Given the description of an element on the screen output the (x, y) to click on. 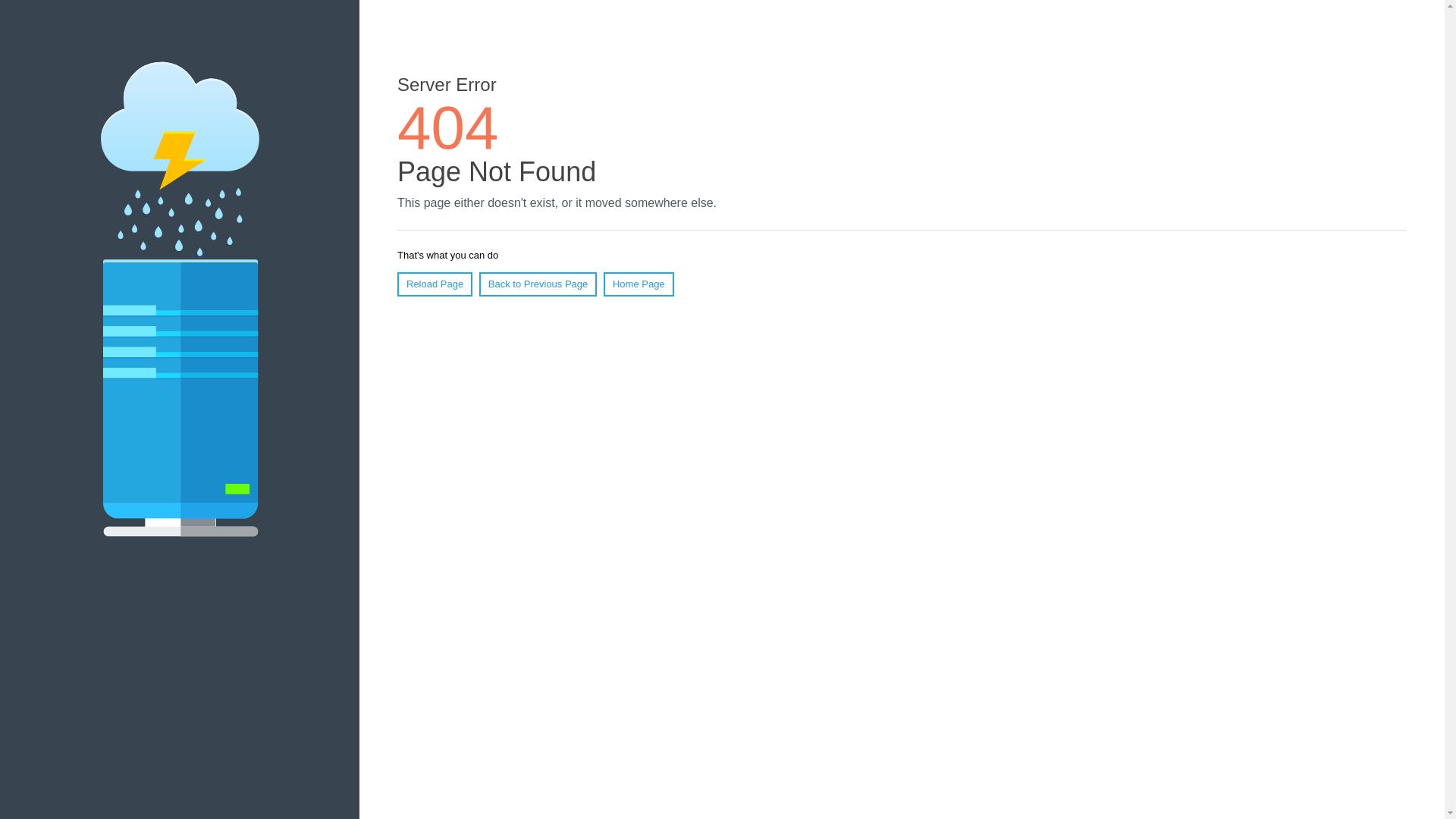
Back to Previous Page Element type: text (538, 284)
Home Page Element type: text (638, 284)
Reload Page Element type: text (434, 284)
